Given the description of an element on the screen output the (x, y) to click on. 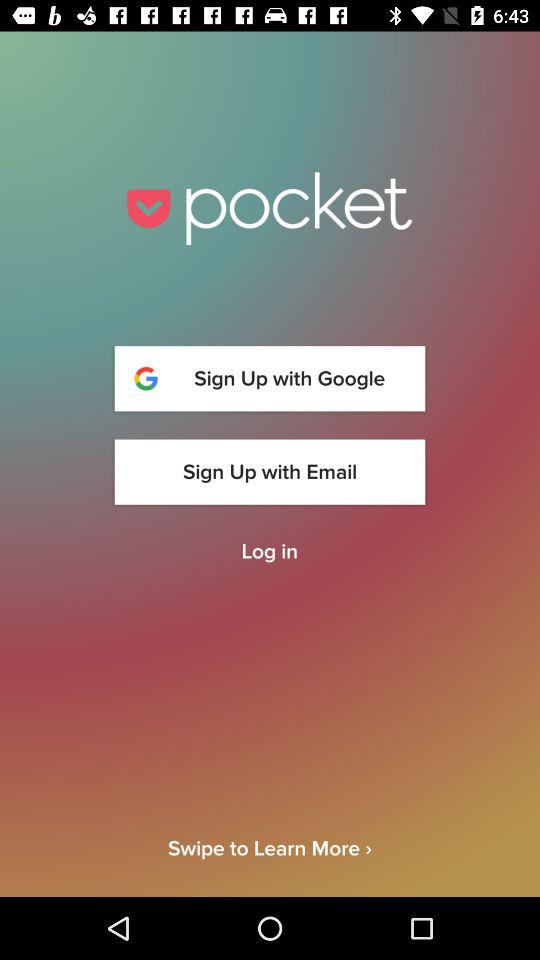
launch swipe to learn item (270, 866)
